Given the description of an element on the screen output the (x, y) to click on. 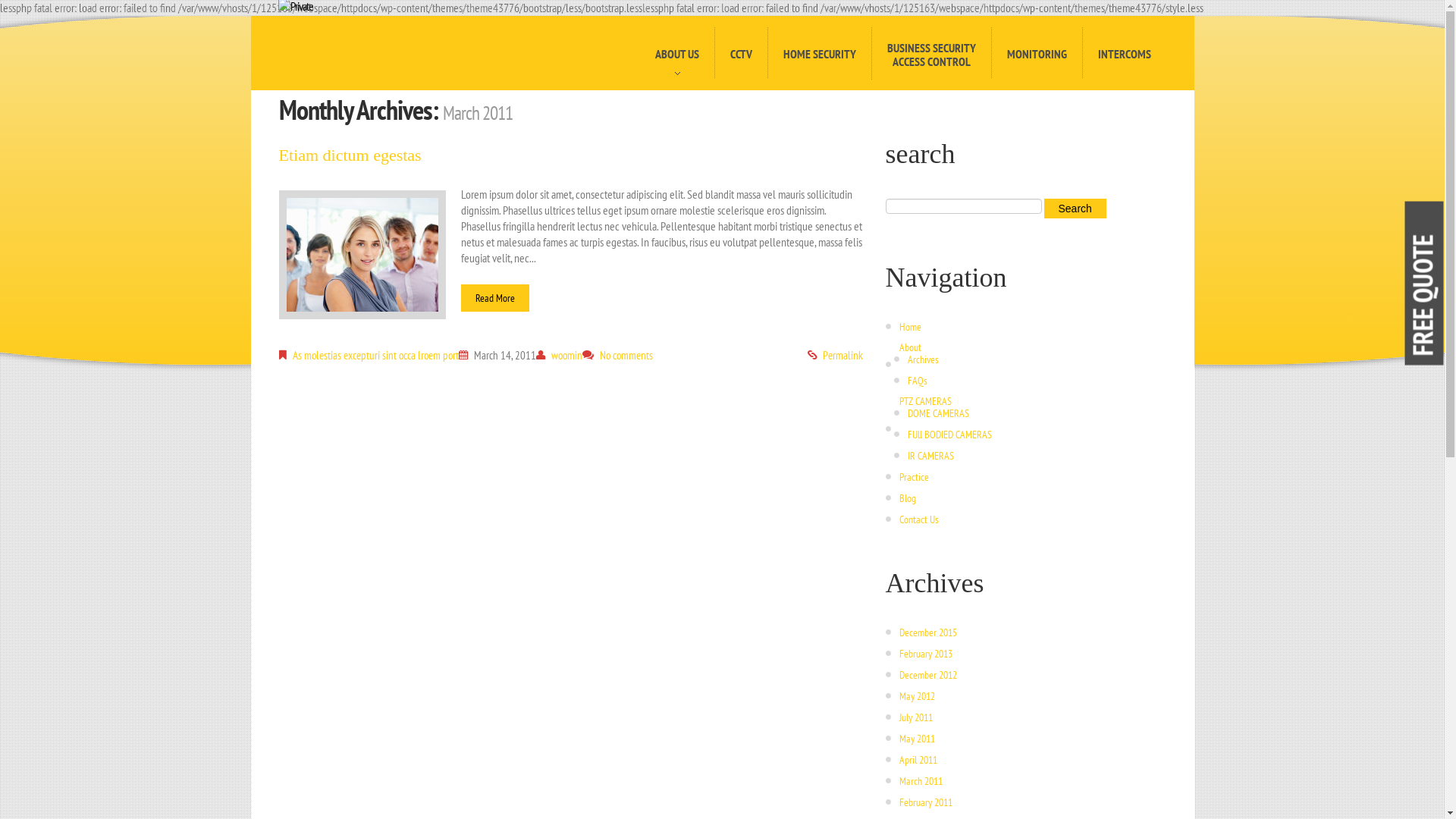
No comments Element type: text (625, 355)
Etiam dictum egestas Element type: text (350, 154)
Archives Element type: text (922, 359)
Contact Us Element type: text (918, 519)
Read More Element type: text (495, 297)
May 2011 Element type: text (917, 738)
BUSINESS SECURITY
ACCESS CONTROL Element type: text (930, 53)
July 2011 Element type: text (915, 717)
February 2013 Element type: text (925, 653)
Practice Element type: text (913, 476)
December 2015 Element type: text (928, 632)
FAQs Element type: text (916, 380)
About Element type: text (910, 347)
woomin Element type: text (565, 355)
May 2012 Element type: text (917, 695)
INTERCOMS Element type: text (1123, 52)
Permalink Element type: text (842, 355)
CCTV Element type: text (740, 52)
Blog Element type: text (907, 498)
FUll BODIED CAMERAS Element type: text (948, 434)
MONITORING Element type: text (1035, 52)
DOME CAMERAS Element type: text (937, 413)
March 2011 Element type: text (920, 780)
HOME SECURITY Element type: text (819, 52)
February 2011 Element type: text (925, 802)
April 2011 Element type: text (918, 759)
Home Element type: text (910, 326)
search Element type: text (1074, 208)
PTZ CAMERAS Element type: text (925, 400)
As molestias excepturi sint occa lroem port Element type: text (375, 355)
IR CAMERAS Element type: text (929, 455)
December 2012 Element type: text (928, 674)
